Given the description of an element on the screen output the (x, y) to click on. 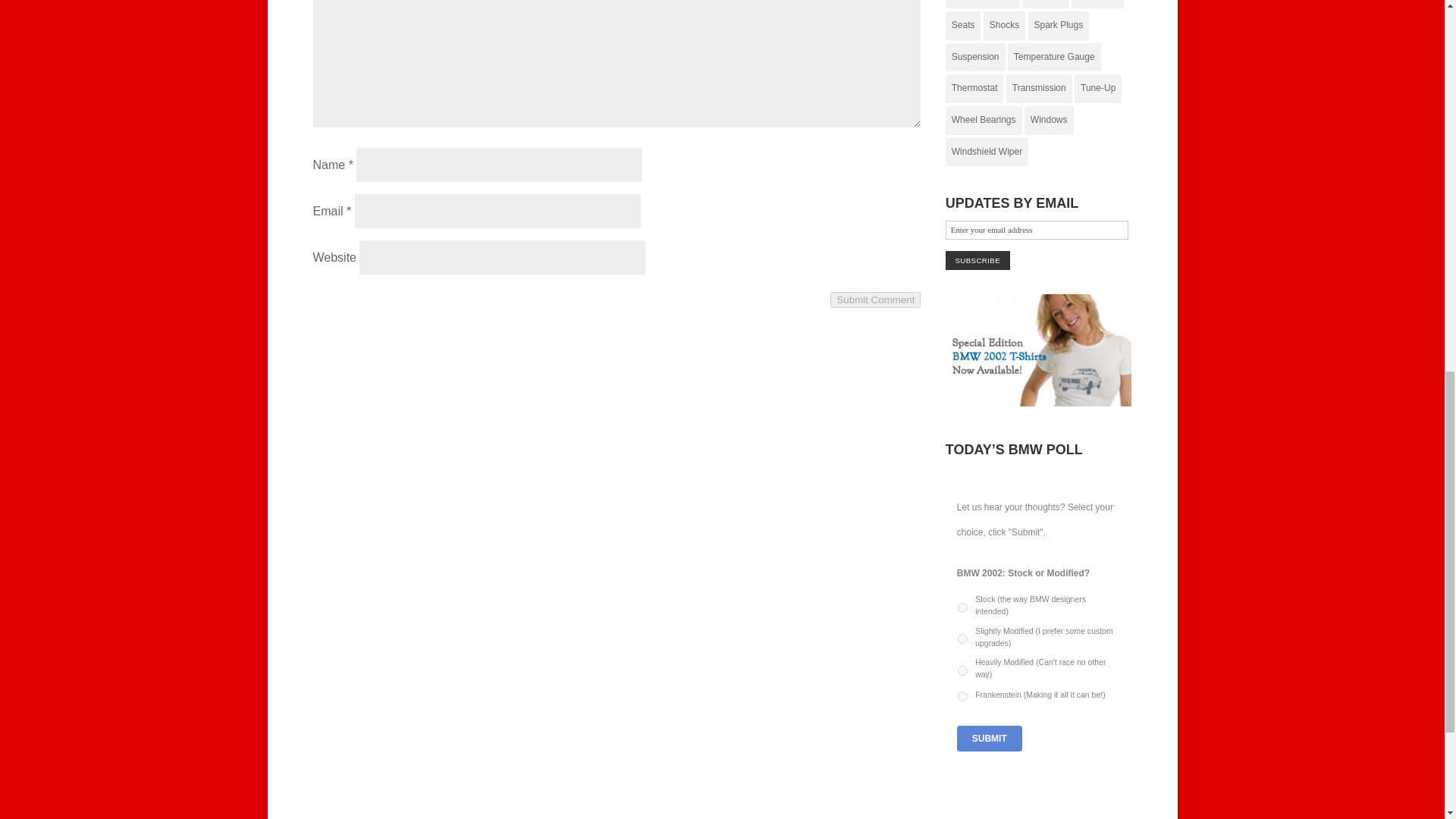
BMW 2002 t-shirts, mugs, bags, and more (1038, 402)
Submit (989, 738)
gpoll13ed0d367 (963, 638)
Enter your email address (1036, 229)
gpoll1e8dd0f8e (963, 696)
Subscribe (977, 260)
gpoll185208a74 (963, 670)
gpoll1d509e6a7 (963, 607)
